Given the description of an element on the screen output the (x, y) to click on. 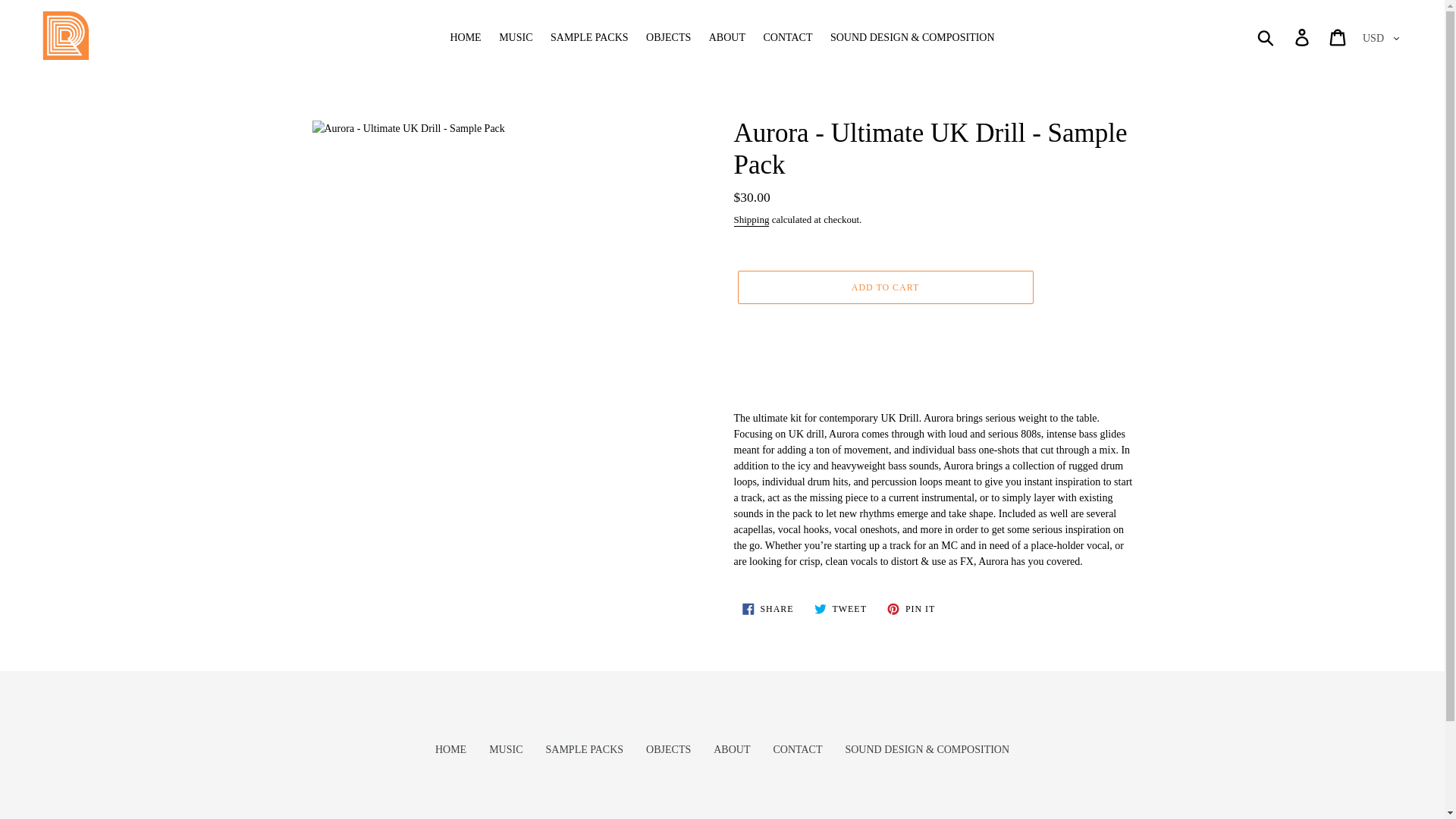
MUSIC (516, 37)
OBJECTS (668, 749)
CONTACT (797, 749)
ADD TO CART (840, 608)
Shipping (884, 287)
CONTACT (751, 219)
ABOUT (787, 37)
MUSIC (731, 749)
ABOUT (505, 749)
SAMPLE PACKS (767, 608)
HOME (726, 37)
Cart (911, 608)
